Given the description of an element on the screen output the (x, y) to click on. 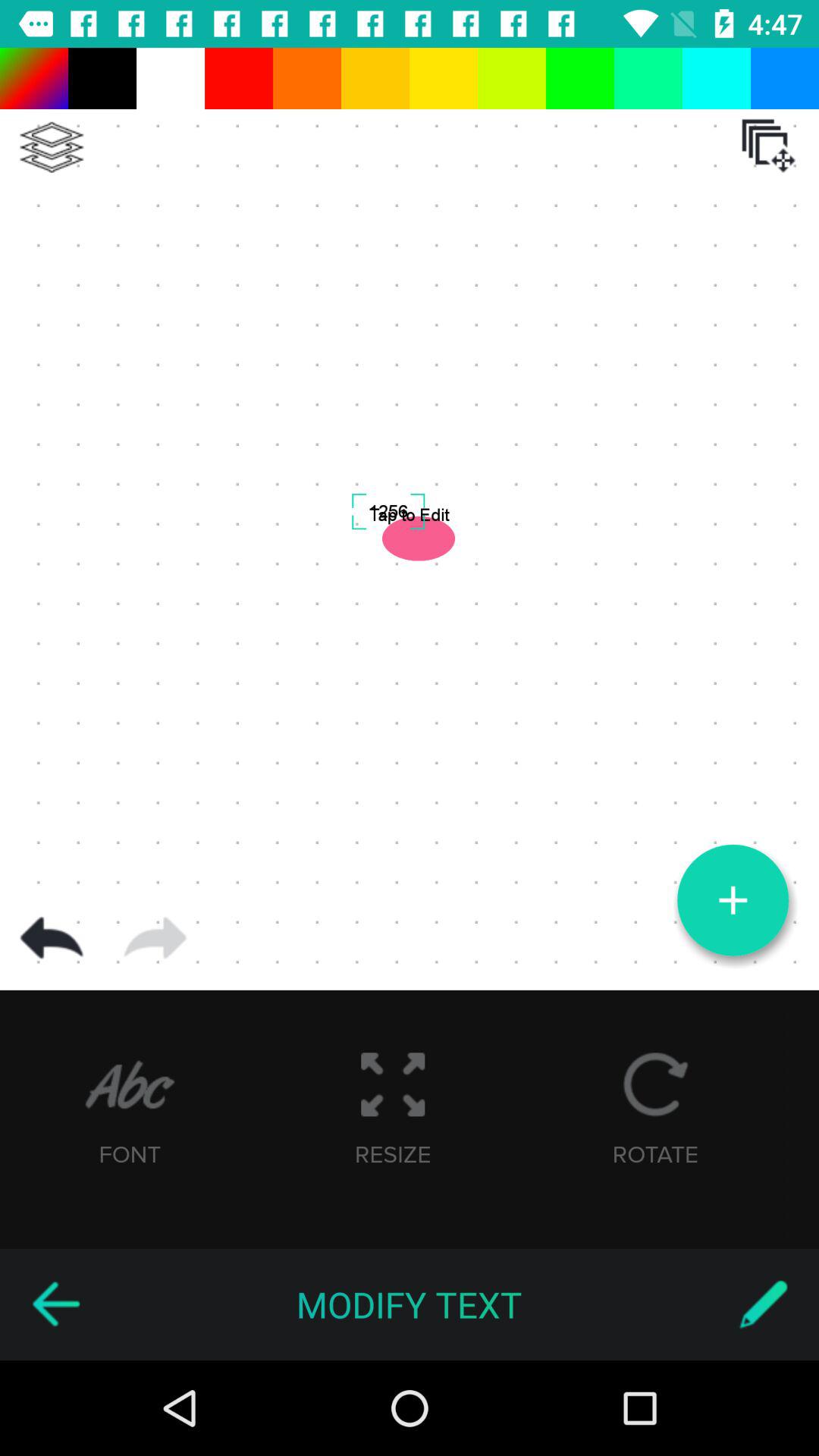
share button (155, 938)
